Given the description of an element on the screen output the (x, y) to click on. 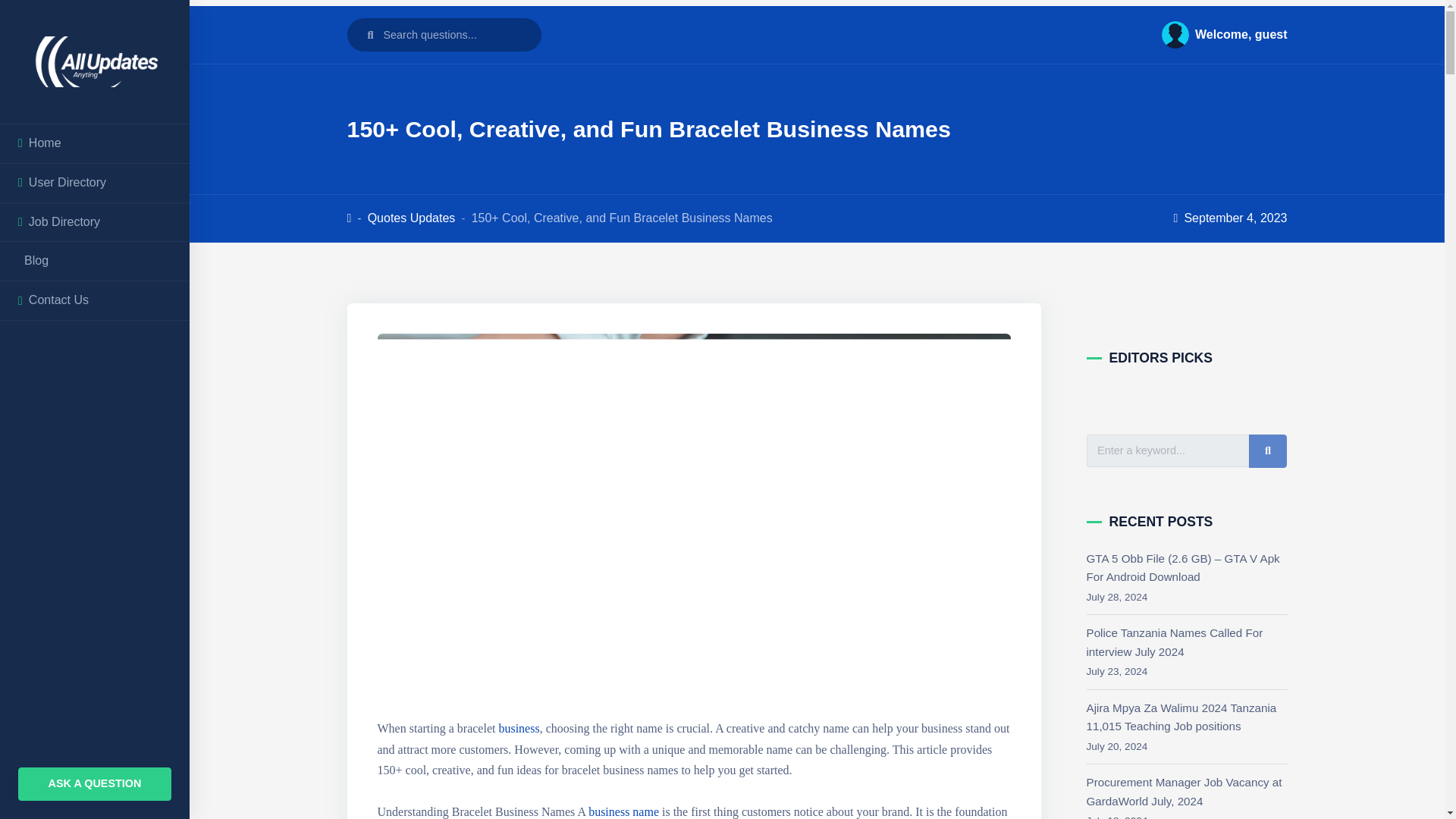
Job Directory (94, 222)
ASK A QUESTION (94, 783)
business name (623, 811)
Quotes Updates (411, 217)
Home (94, 143)
business (517, 727)
Go to Top (1403, 786)
Contact Us (94, 300)
Welcome, guest (1218, 34)
User Directory (94, 182)
Blog (94, 260)
